Given the description of an element on the screen output the (x, y) to click on. 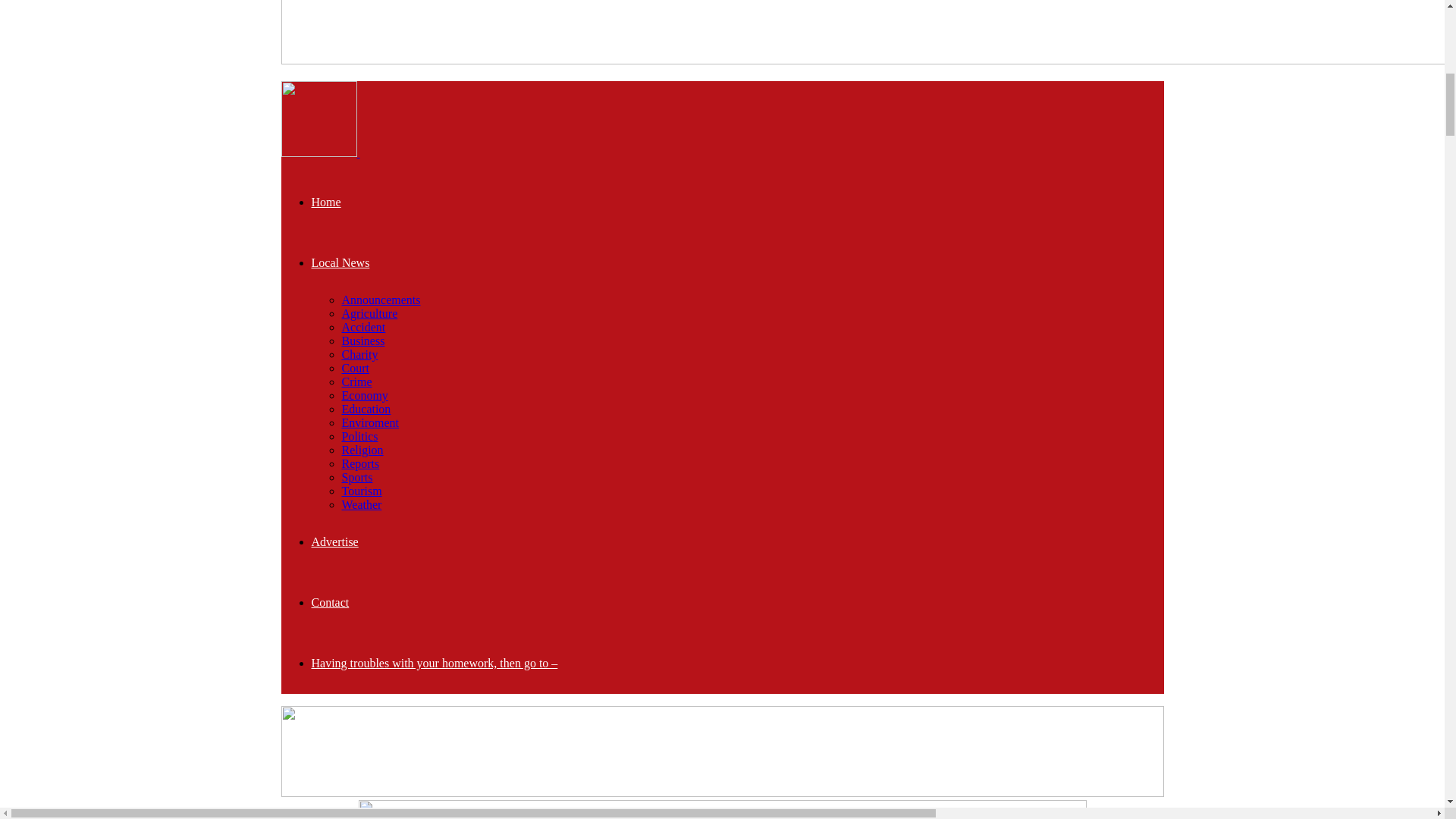
Home (325, 201)
Announcements (380, 299)
Local News (340, 262)
